Given the description of an element on the screen output the (x, y) to click on. 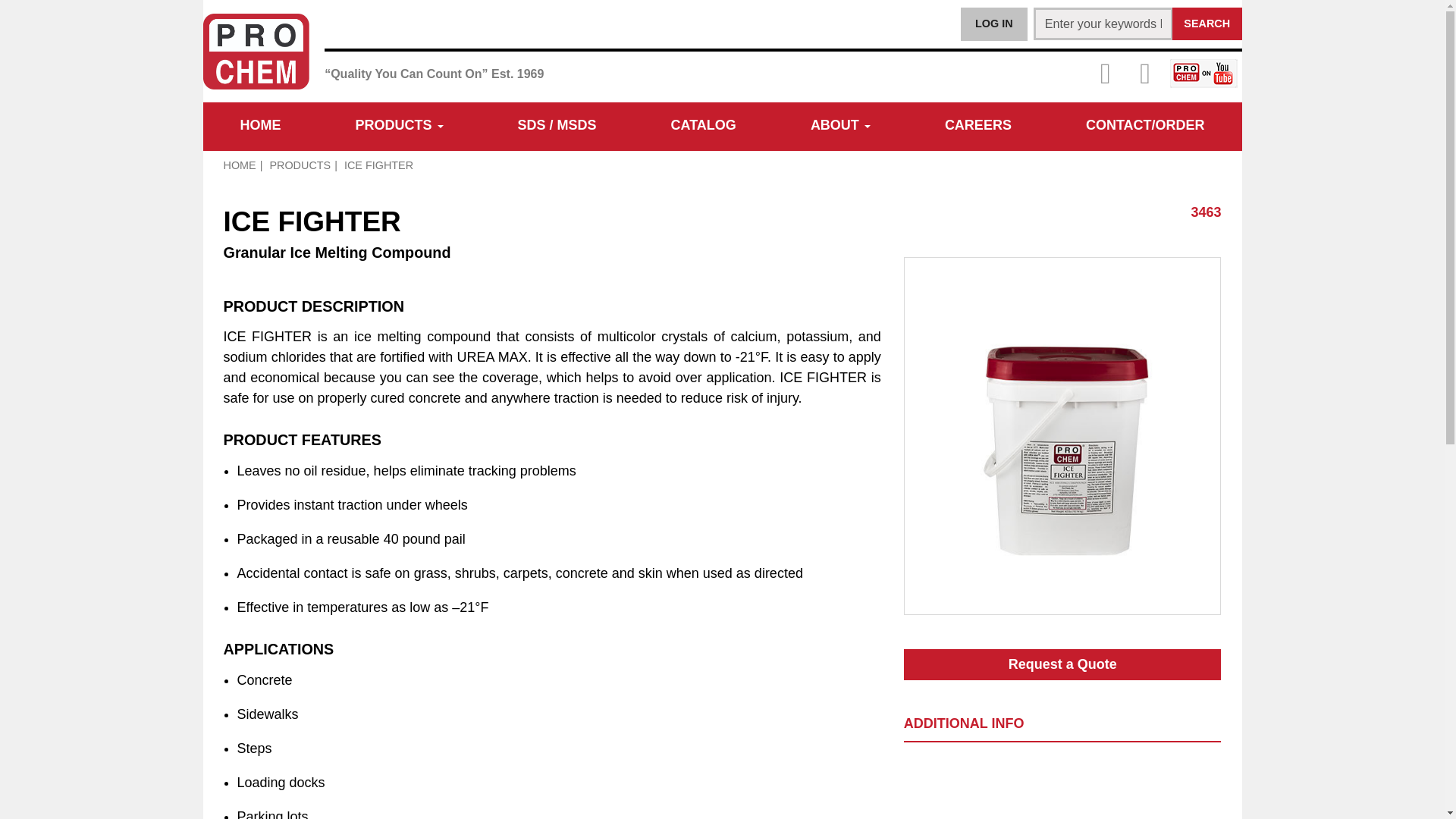
SEARCH (1206, 23)
HOME (260, 126)
CATALOG (703, 126)
PRODUCTS (399, 126)
ABOUT (840, 126)
Home (260, 126)
Products (399, 126)
LOG IN (993, 23)
CAREERS (978, 126)
